Given the description of an element on the screen output the (x, y) to click on. 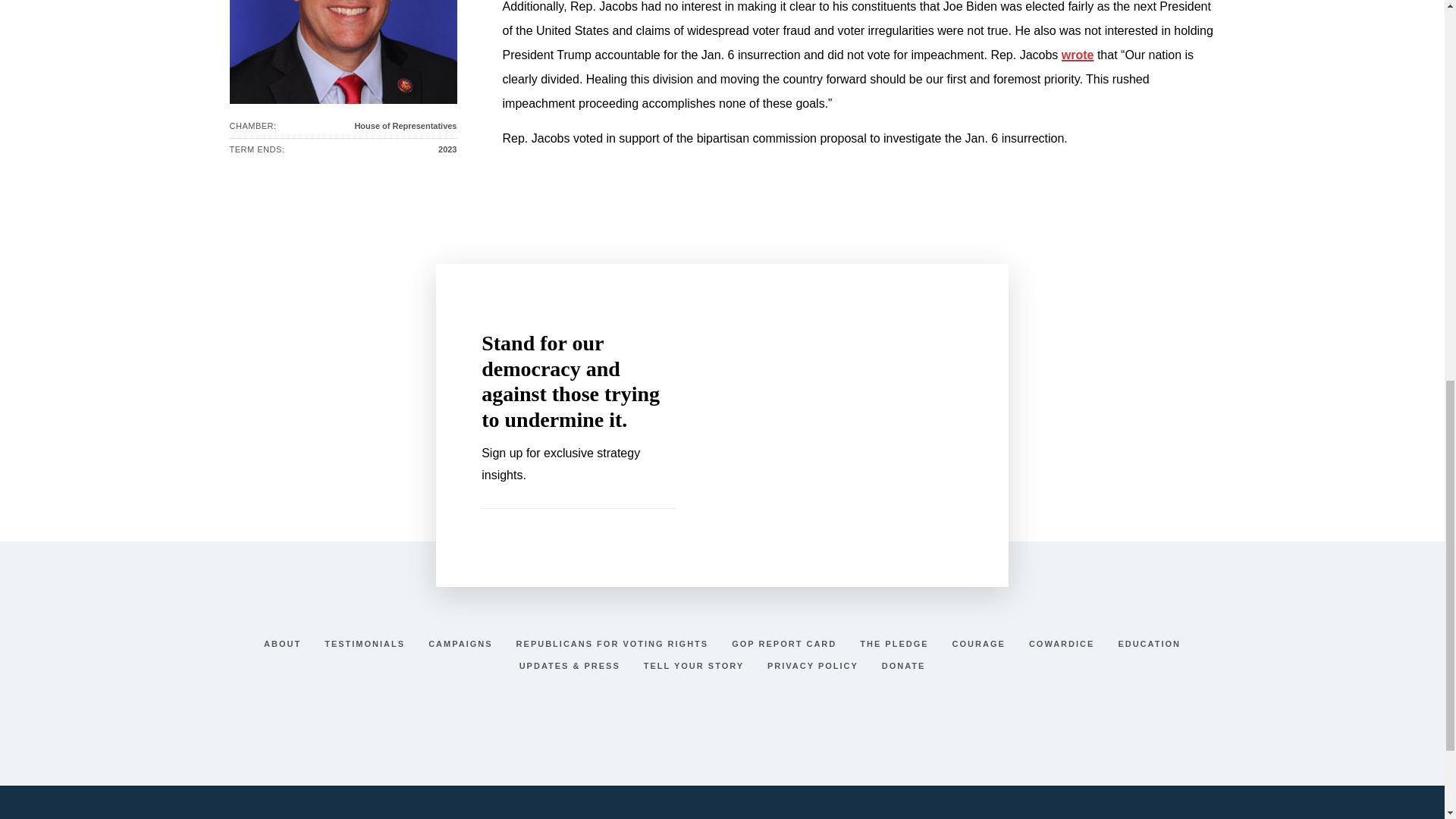
ABOUT (283, 643)
DONATE (904, 665)
CAMPAIGNS (462, 643)
COWARDICE (1063, 643)
PRIVACY POLICY (814, 665)
TELL YOUR STORY (695, 665)
TESTIMONIALS (366, 643)
EDUCATION (1149, 643)
REPUBLICANS FOR VOTING RIGHTS (614, 643)
GOP REPORT CARD (786, 643)
THE PLEDGE (896, 643)
COURAGE (980, 643)
wrote (1077, 54)
